Given the description of an element on the screen output the (x, y) to click on. 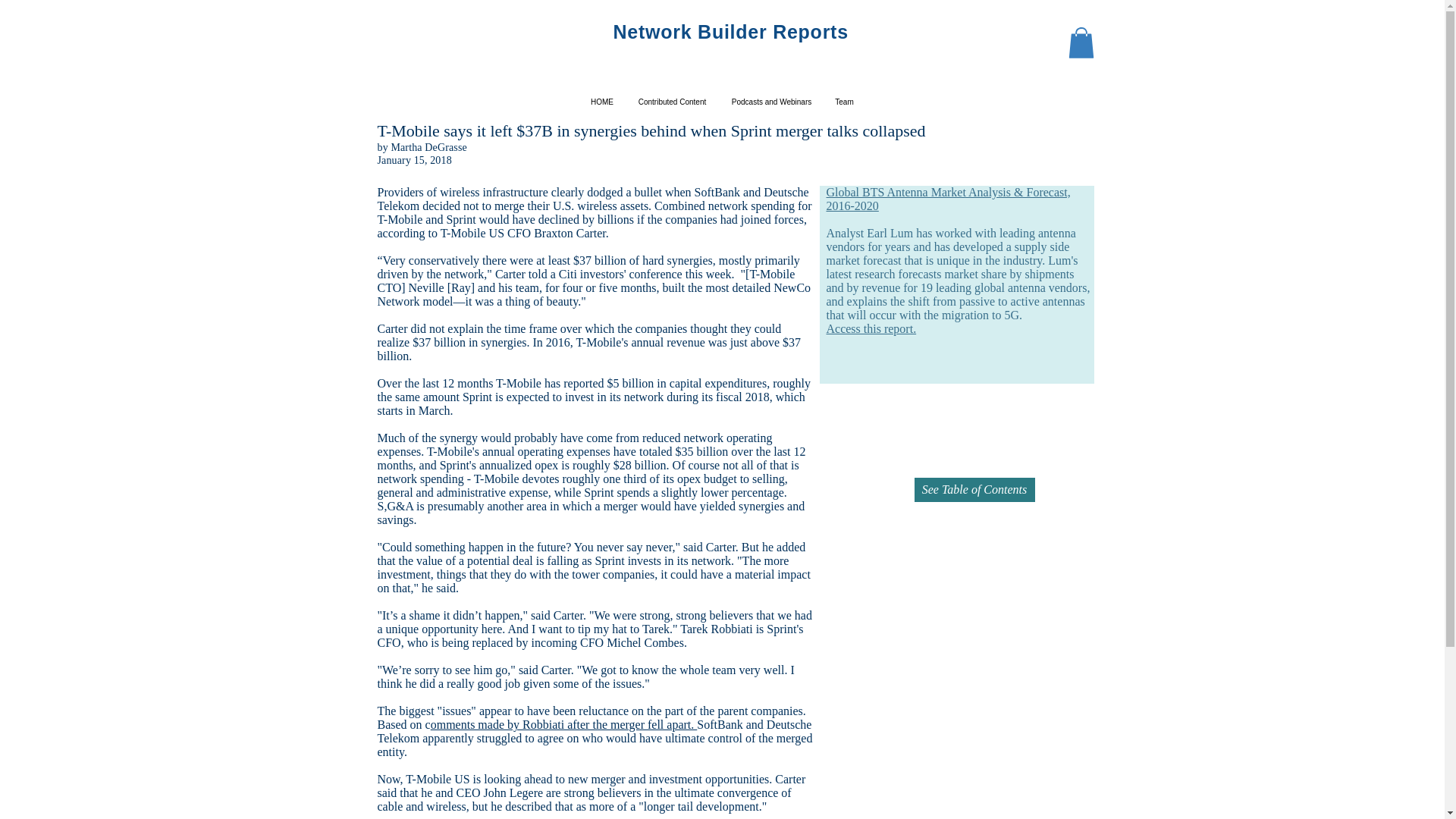
omments made by Robbiati after the merger fell apart.  (563, 724)
Podcasts and Webinars (771, 101)
Contributed Content (671, 101)
Access this report. (872, 328)
See Table of Contents (974, 489)
HOME (601, 101)
Network Builder Reports (729, 31)
Team (844, 101)
